Given the description of an element on the screen output the (x, y) to click on. 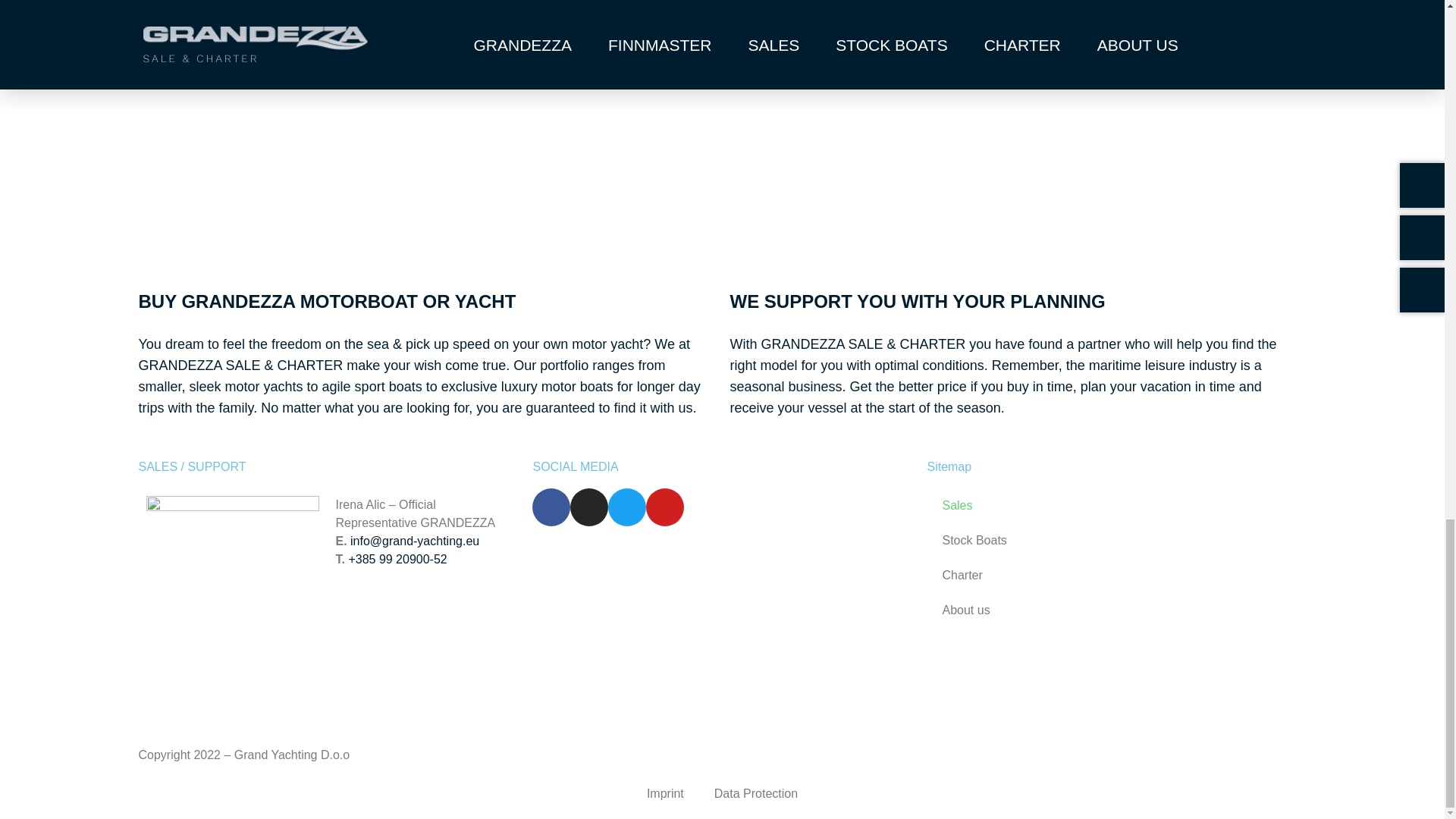
Data Protection (755, 793)
About us (1116, 610)
Sales (1116, 505)
Charter (1116, 574)
Imprint (664, 793)
Stock Boats (1116, 540)
